Given the description of an element on the screen output the (x, y) to click on. 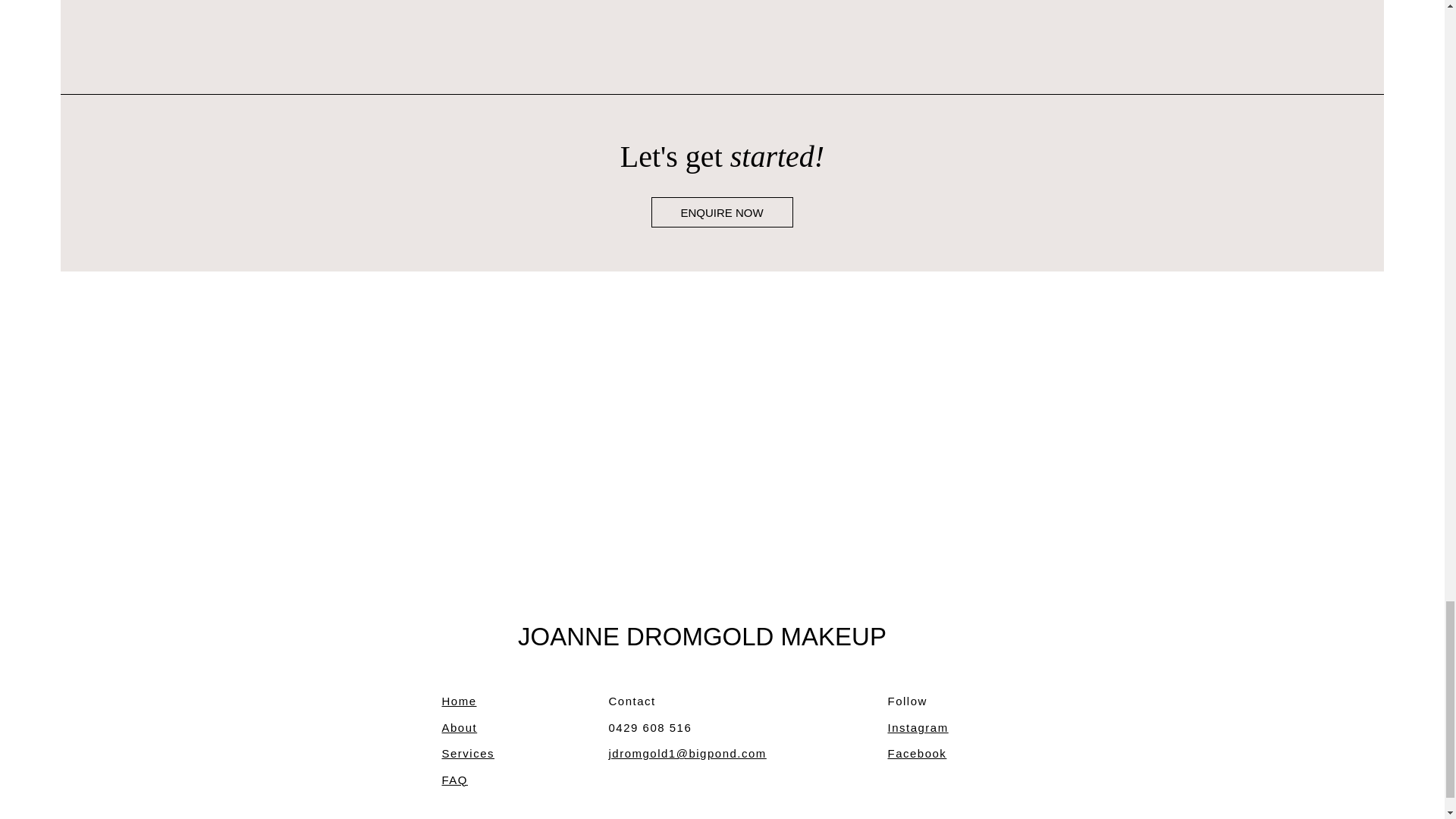
Instagram (916, 727)
Facebook (916, 753)
Contact (631, 700)
FAQ (454, 779)
About (459, 727)
Services (468, 753)
ENQUIRE NOW (721, 212)
JOANNE DROMGOLD MAKEUP (702, 636)
Home (458, 700)
